Given the description of an element on the screen output the (x, y) to click on. 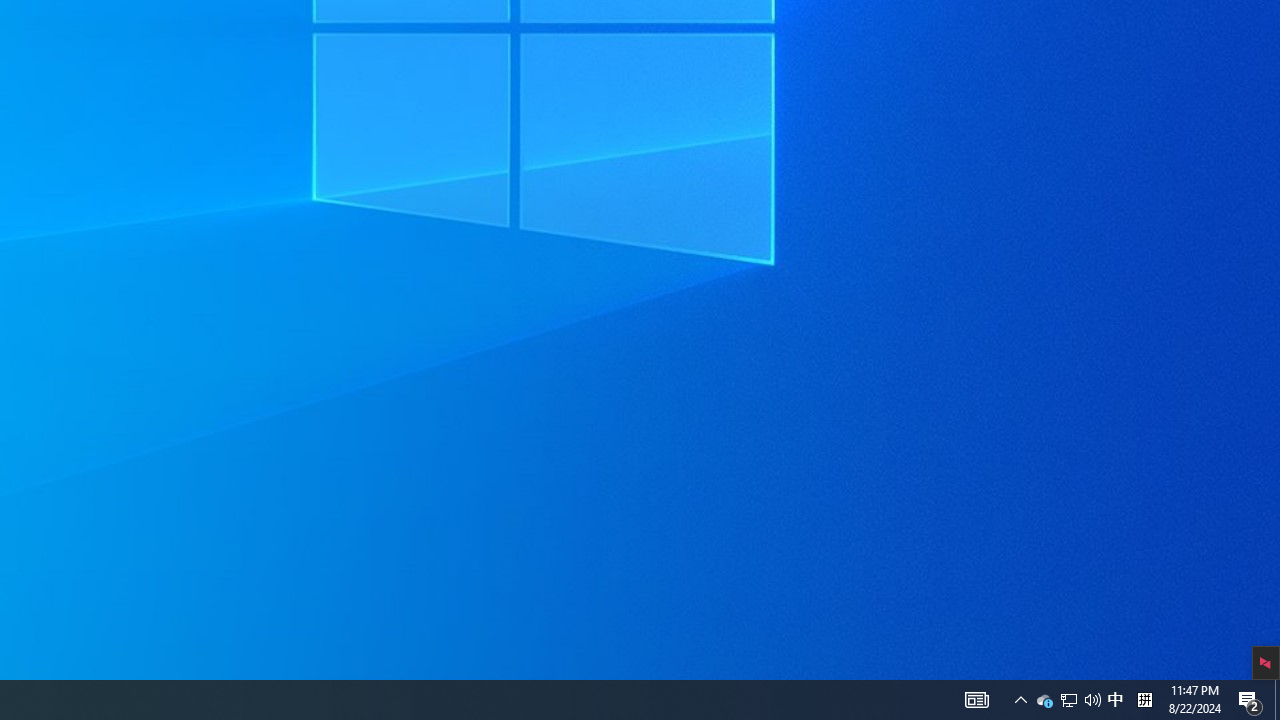
Design Idea (1124, 587)
